Given the description of an element on the screen output the (x, y) to click on. 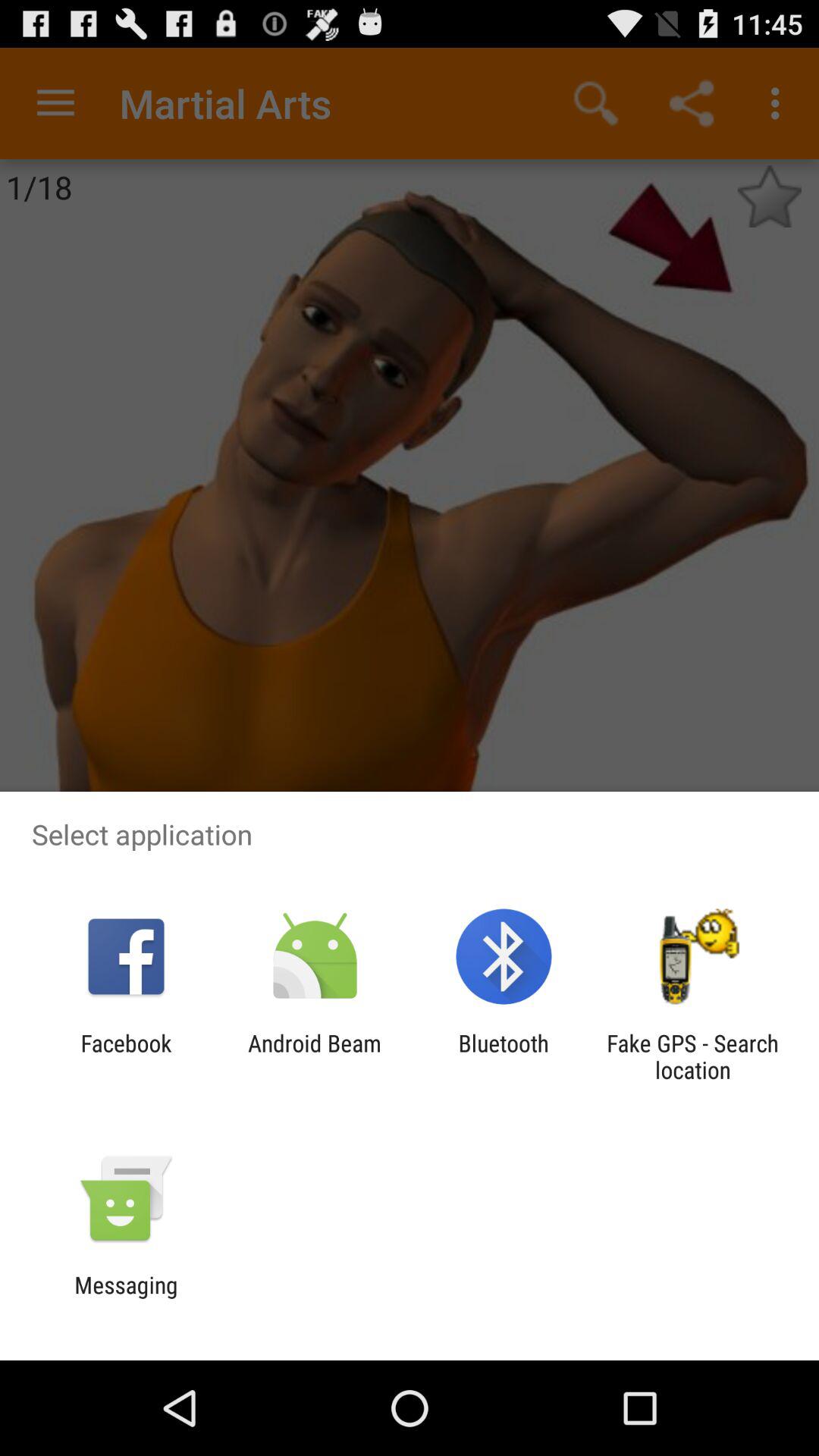
launch messaging (126, 1298)
